Given the description of an element on the screen output the (x, y) to click on. 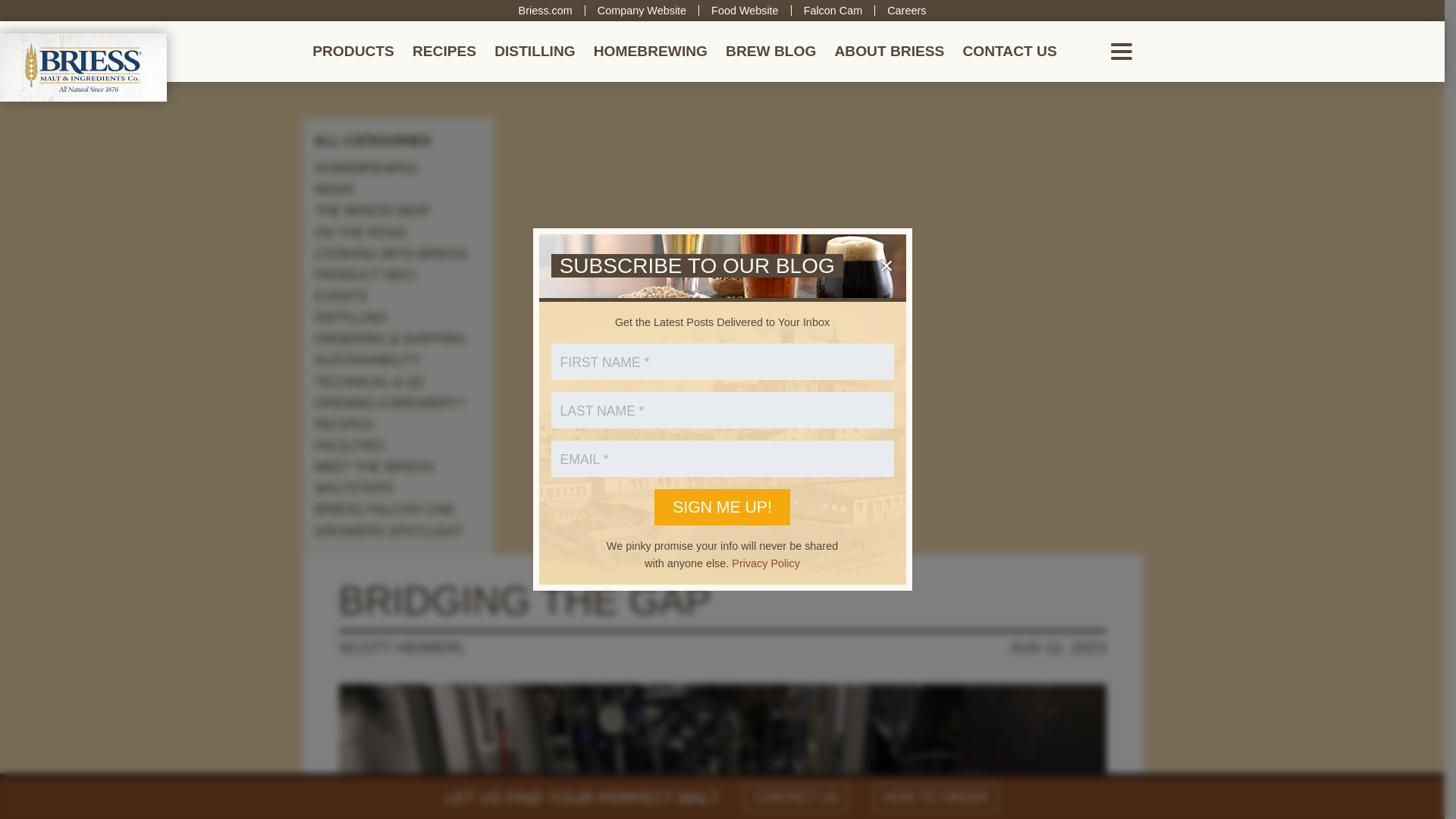
Food Website (744, 10)
PRODUCTS (352, 51)
Briess.com (545, 10)
DISTILLING (534, 51)
Company Website (640, 10)
Falcon Cam (833, 10)
RECIPES (443, 51)
HOMEBREWING (650, 51)
ABOUT BRIESS (889, 51)
Sign me up! (721, 506)
Careers (906, 10)
CONTACT US (1009, 51)
BREW BLOG (770, 51)
